Given the description of an element on the screen output the (x, y) to click on. 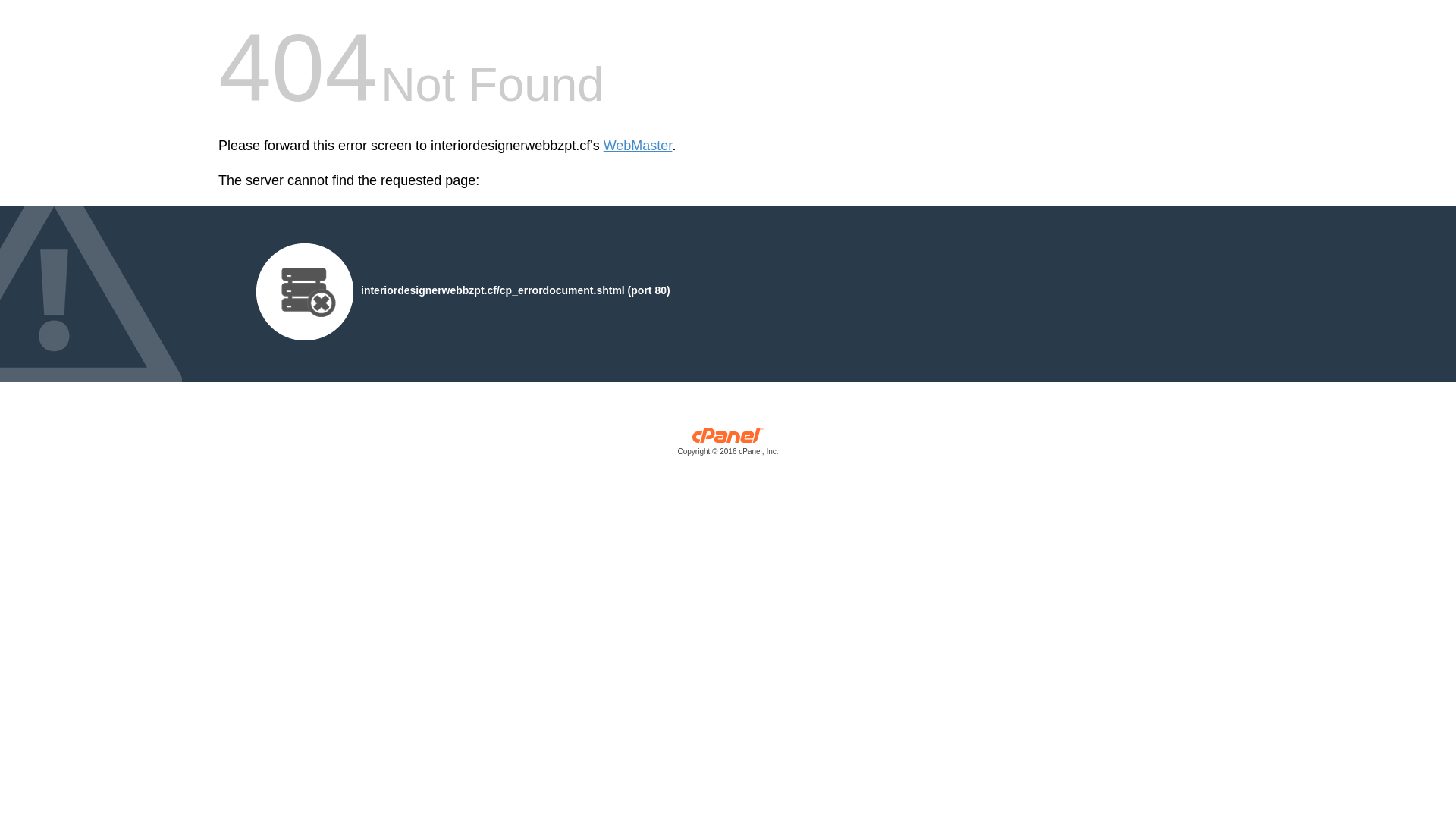
WebMaster Element type: text (637, 145)
